Given the description of an element on the screen output the (x, y) to click on. 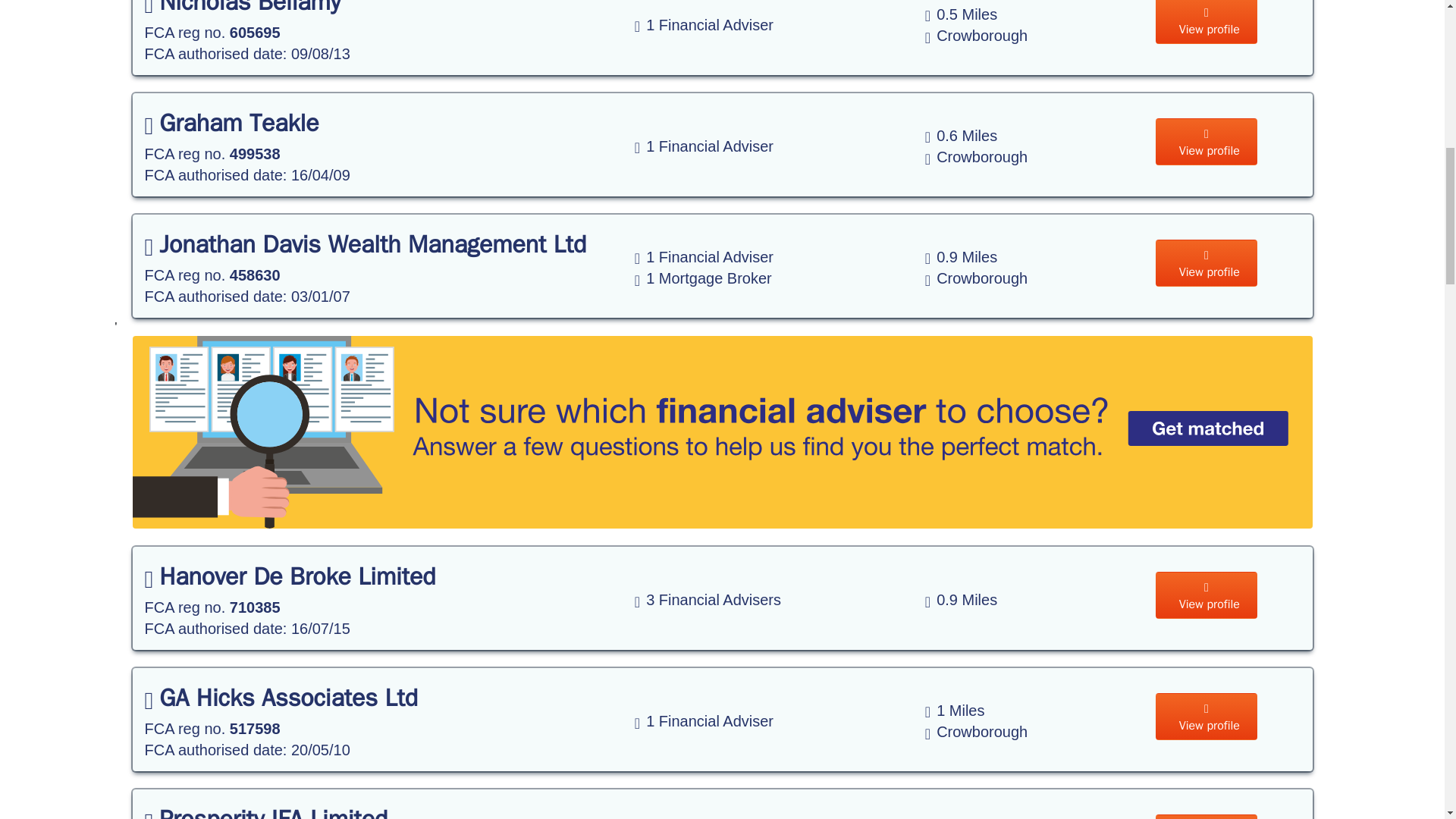
View profile (1206, 262)
View profile (1206, 816)
View profile (1206, 595)
Graham Teakle (231, 122)
View profile (1206, 22)
Hanover De Broke Limited (289, 576)
Jonathan Davis Wealth Management Ltd (365, 244)
710385 (255, 606)
View profile (1206, 141)
499538 (255, 153)
517598 (255, 728)
Prosperity IFA Limited (265, 811)
View profile (1206, 716)
458630 (255, 274)
605695 (255, 32)
